Given the description of an element on the screen output the (x, y) to click on. 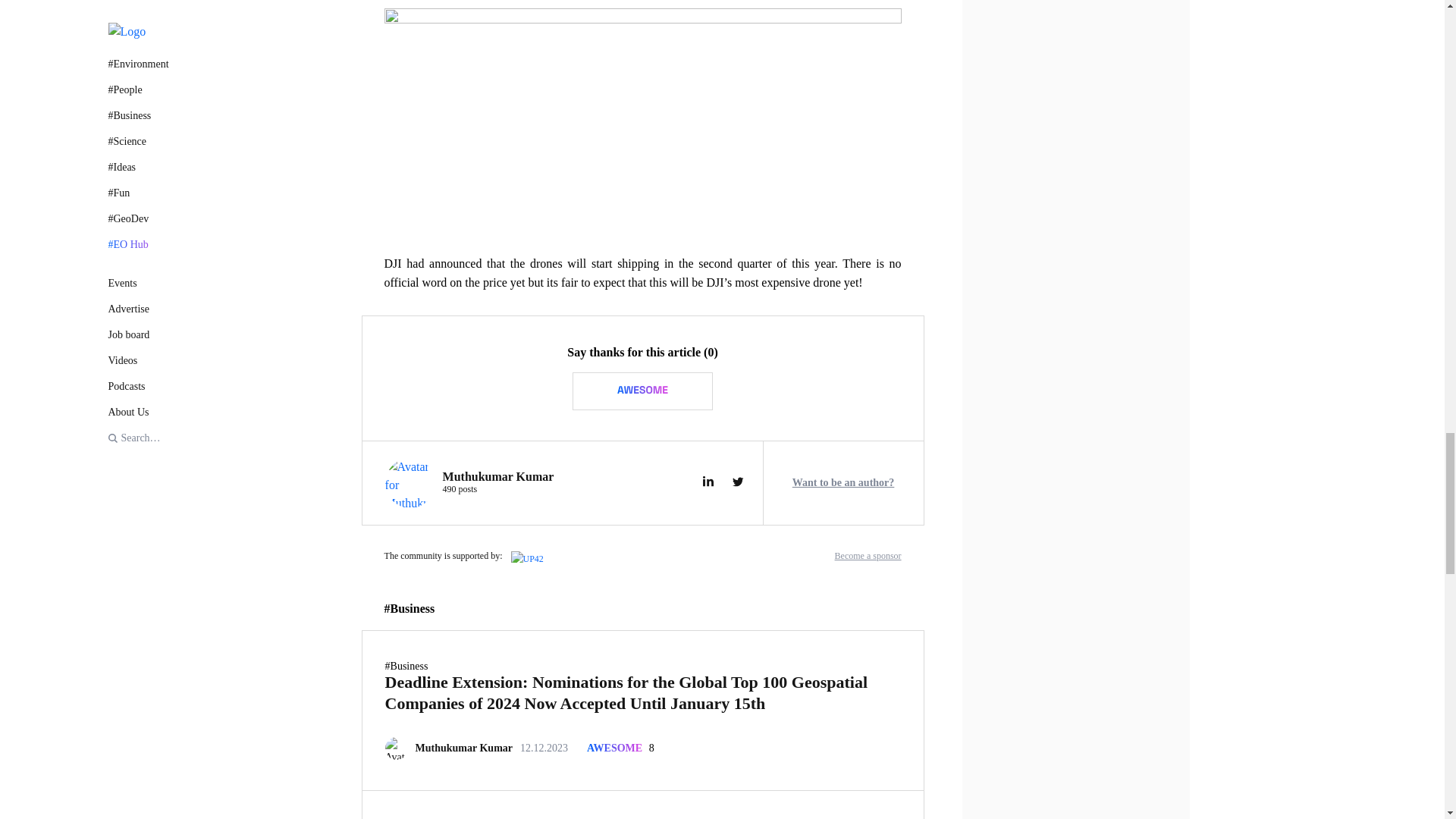
Become a sponsor (867, 555)
Want to be an author? (498, 482)
